Given the description of an element on the screen output the (x, y) to click on. 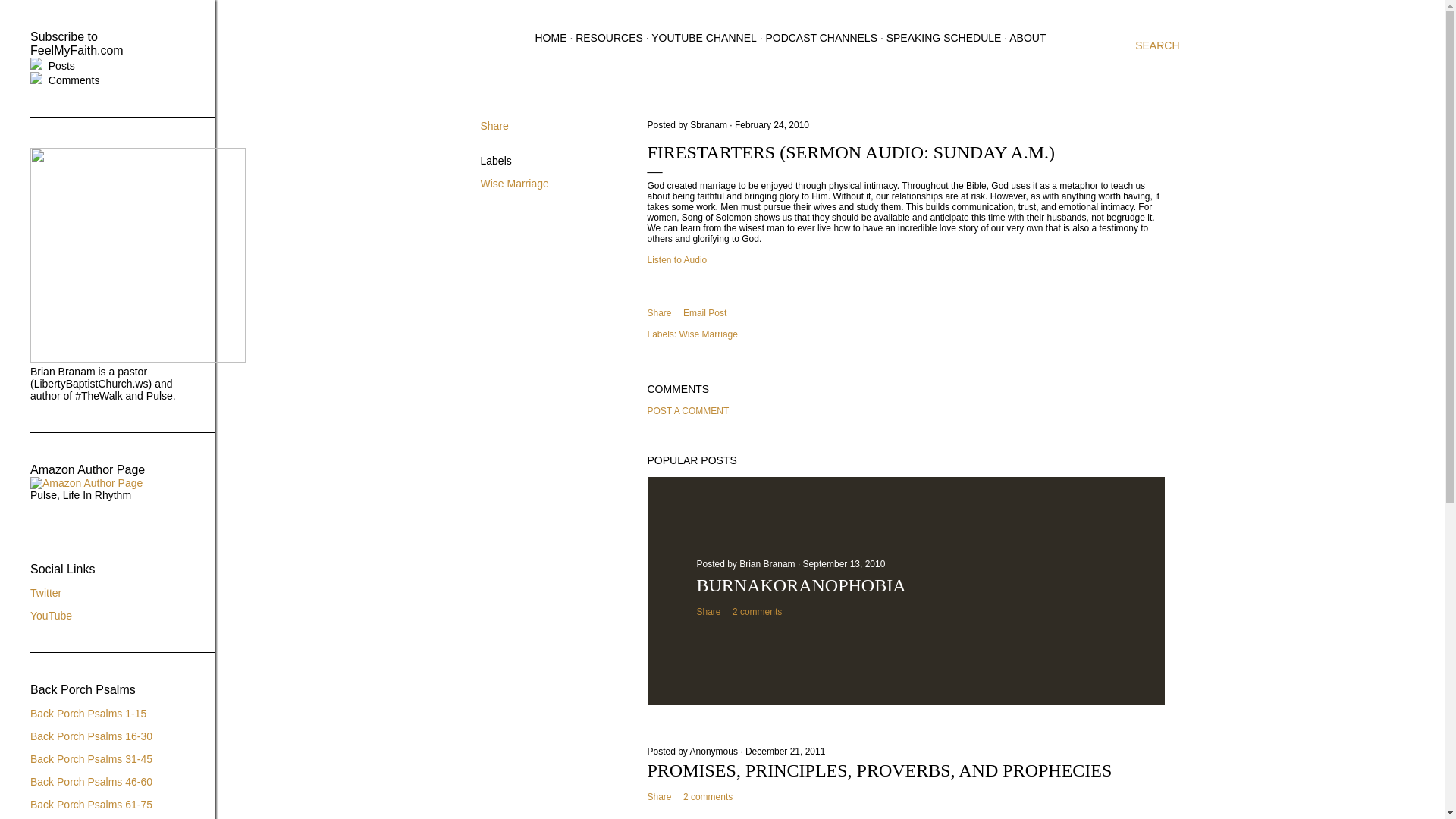
Share (659, 796)
2 comments (707, 796)
Share (494, 125)
December 21, 2011 (785, 751)
ABOUT (1027, 37)
2 comments (756, 611)
Wise Marriage (514, 183)
permanent link (772, 124)
PODCAST CHANNELS (821, 37)
Email Post (704, 313)
Sbranam (709, 124)
BURNAKORANOPHOBIA (800, 585)
RESOURCES (609, 37)
Wise Marriage (708, 334)
February 24, 2010 (772, 124)
